Given the description of an element on the screen output the (x, y) to click on. 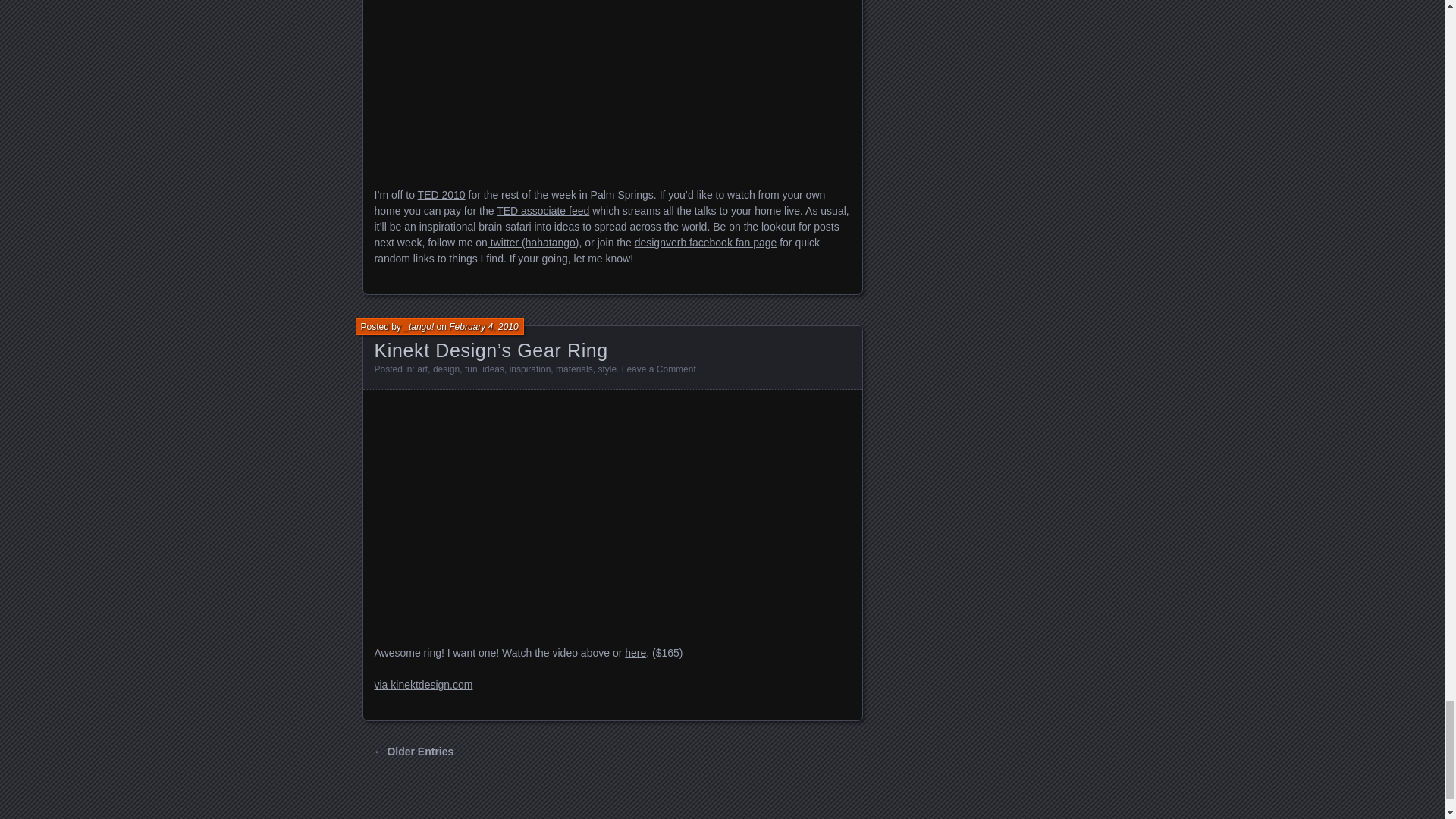
ted.2010 (612, 85)
